Given the description of an element on the screen output the (x, y) to click on. 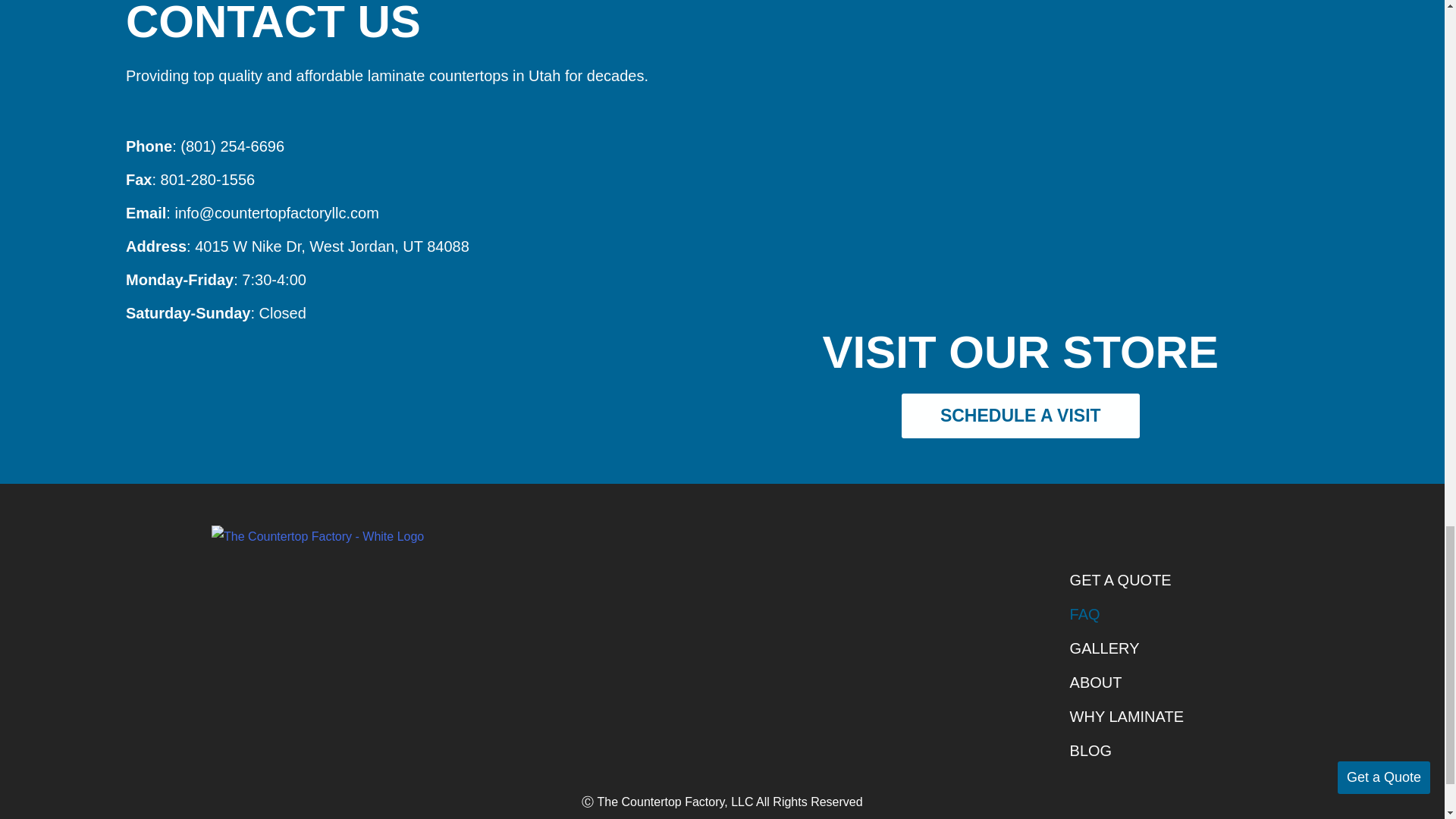
FAQ (1126, 614)
SCHEDULE A VISIT (1020, 415)
ABOUT (1126, 682)
GALLERY (1126, 648)
BLOG (1126, 750)
WHY LAMINATE (1126, 716)
GET A QUOTE (1126, 580)
801-280-1556 (208, 179)
